Given the description of an element on the screen output the (x, y) to click on. 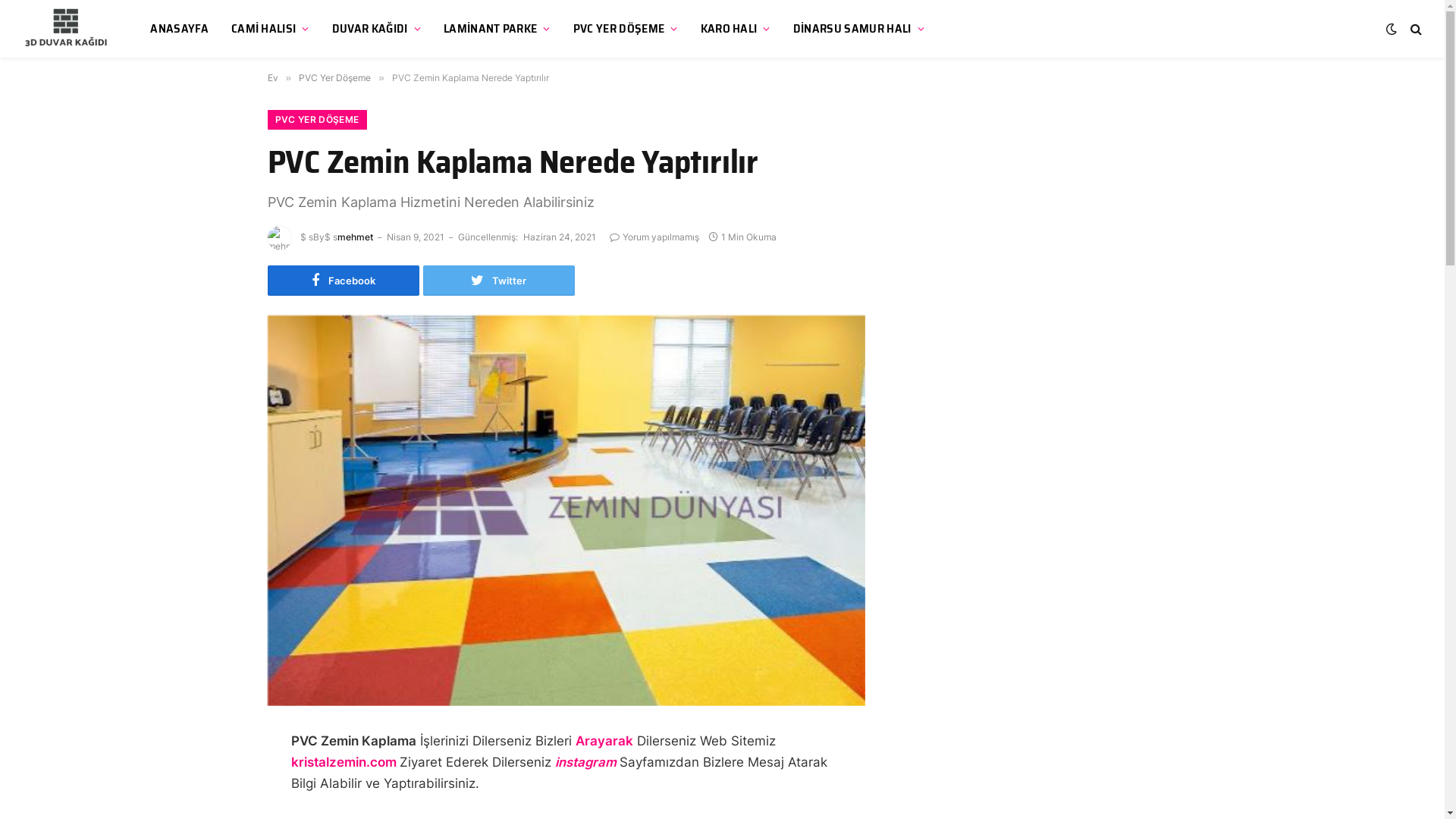
Twitter Element type: text (498, 280)
mehmet Element type: text (354, 236)
CAMI HALISI Element type: text (269, 28)
Ev Element type: text (271, 77)
DINARSU SAMUR HALI Element type: text (858, 28)
KARO HALI Element type: text (735, 28)
LAMINANT PARKE Element type: text (496, 28)
kristalzemin.com Element type: text (345, 761)
Facebook Element type: text (342, 280)
Arama Element type: hover (1414, 29)
Arayarak Element type: text (603, 740)
instagram Element type: text (587, 761)
ANASAYFA Element type: text (178, 28)
